Given the description of an element on the screen output the (x, y) to click on. 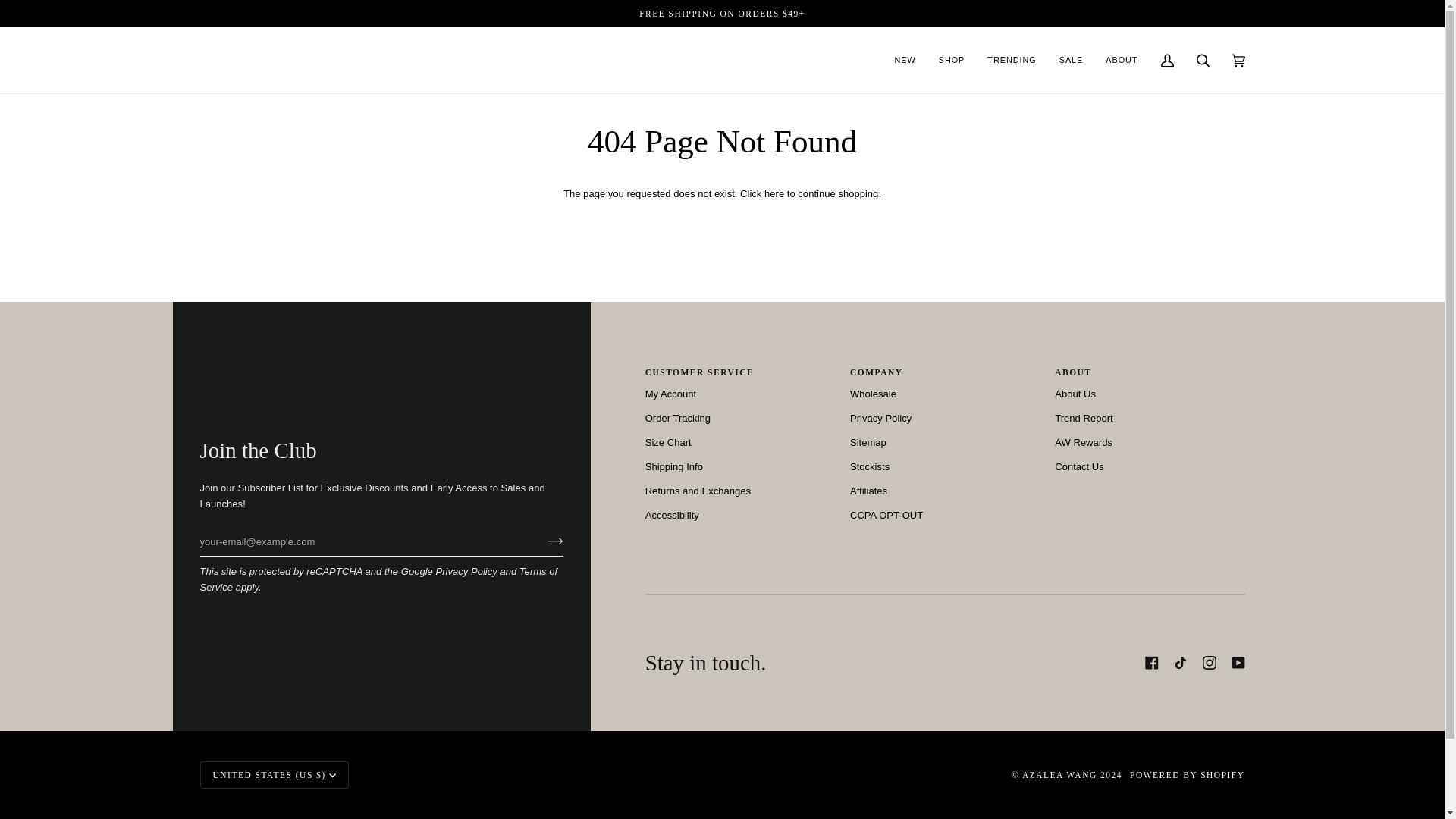
Tiktok (1180, 662)
Instagram (1208, 662)
YouTube (1237, 662)
Facebook (1151, 662)
